Given the description of an element on the screen output the (x, y) to click on. 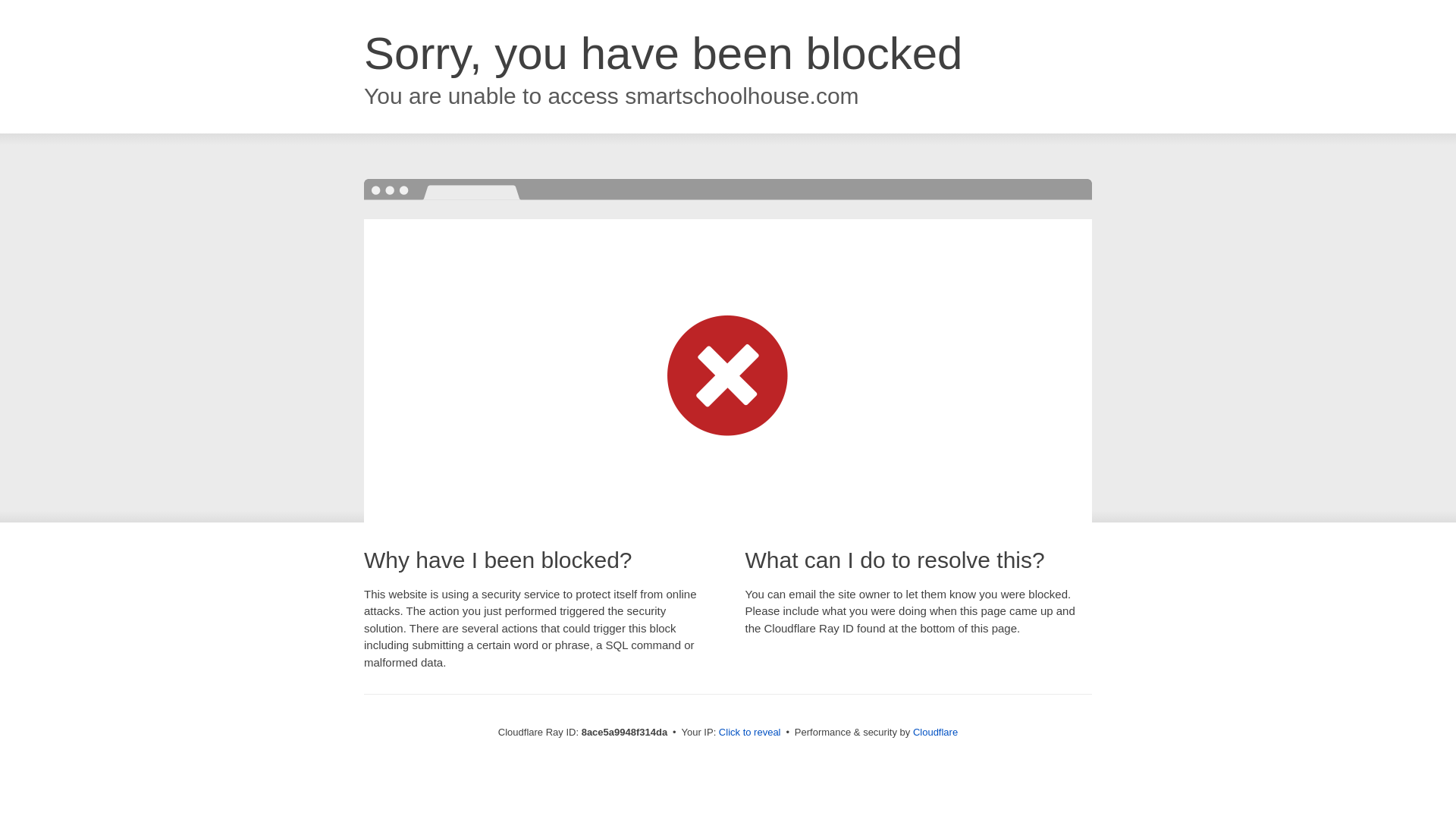
Cloudflare (935, 731)
Click to reveal (749, 732)
